Given the description of an element on the screen output the (x, y) to click on. 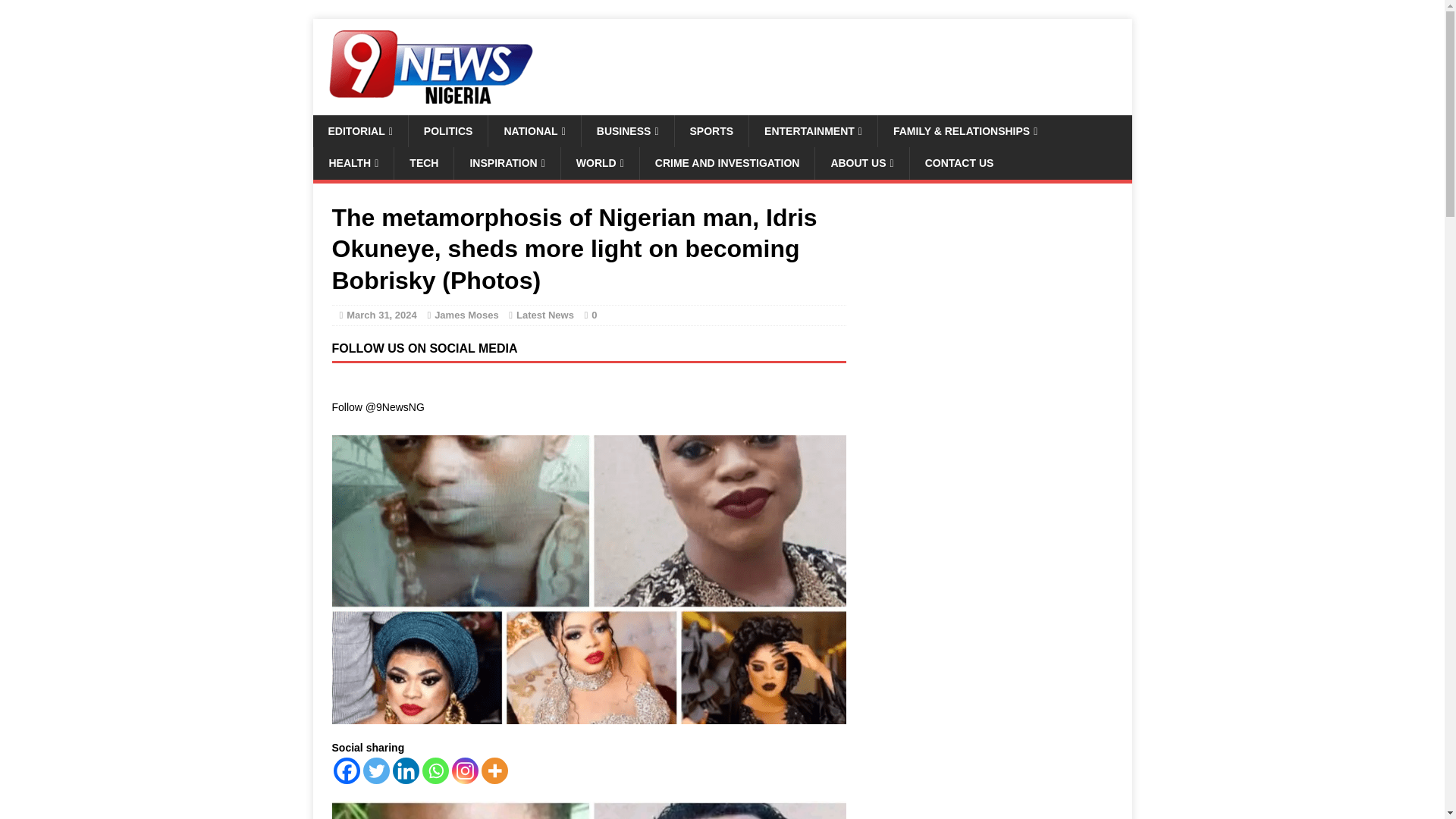
James Moses (466, 315)
ABOUT US (860, 163)
CRIME AND INVESTIGATION (727, 163)
Linkedin (406, 770)
Facebook (346, 770)
HEALTH (353, 163)
9News Nigeria (426, 106)
NATIONAL (533, 131)
Latest News (544, 315)
ENTERTAINMENT (812, 131)
